Given the description of an element on the screen output the (x, y) to click on. 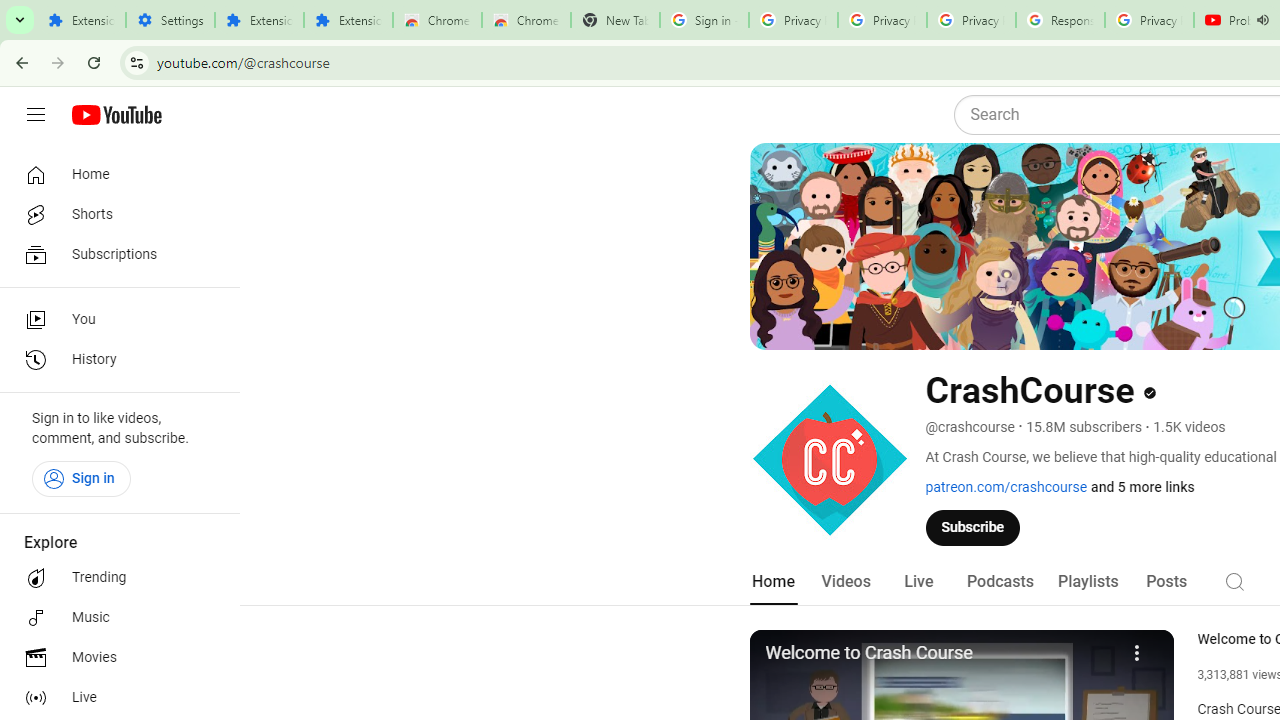
Podcasts (1000, 581)
Welcome to Crash Course (939, 654)
Extensions (347, 20)
Home (772, 581)
History (113, 359)
Music (113, 617)
Chrome Web Store - Themes (526, 20)
Videos (845, 581)
patreon.com/crashcourse (1006, 487)
